Given the description of an element on the screen output the (x, y) to click on. 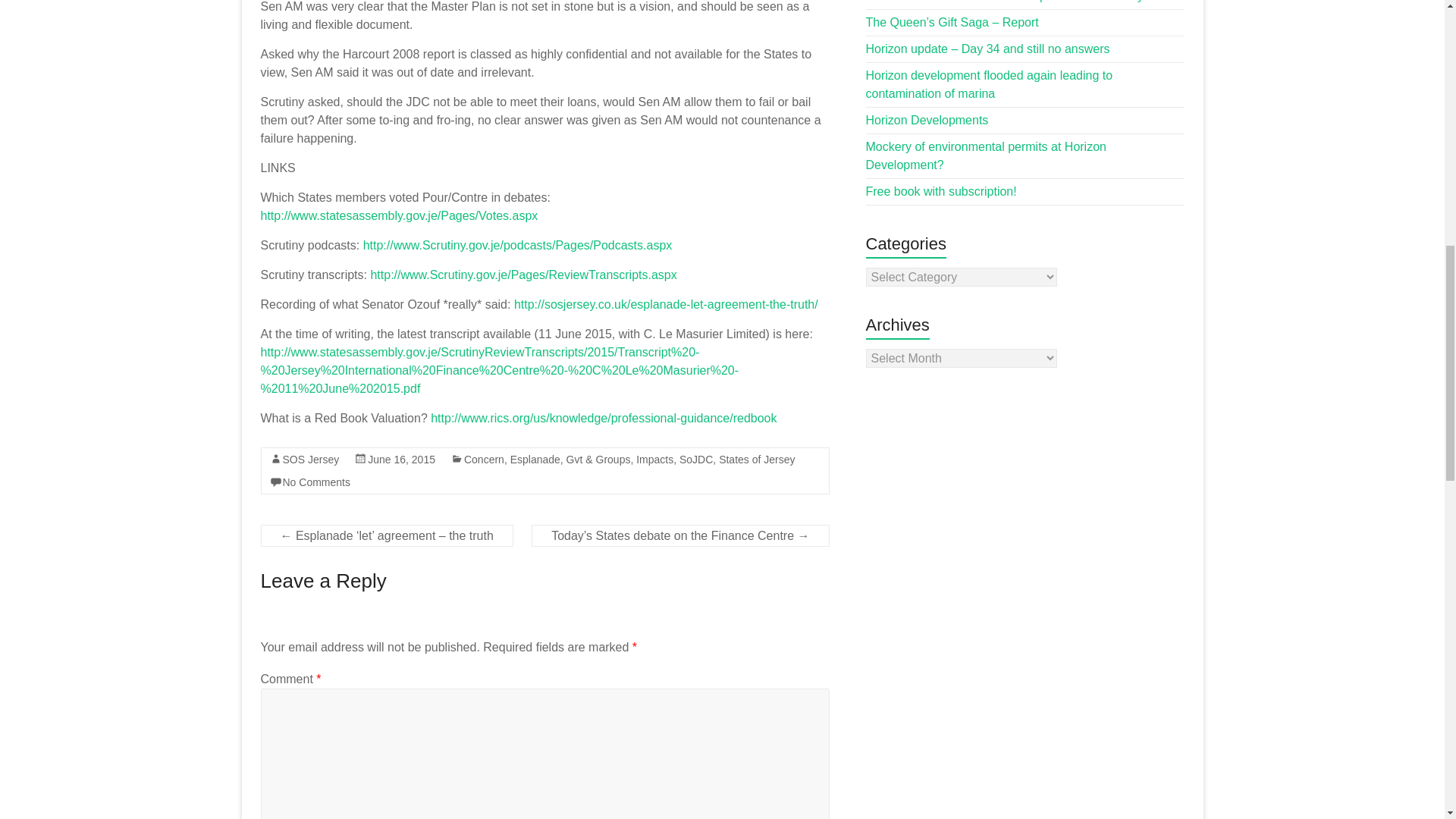
4:57 pm (401, 459)
SOS Jersey (310, 459)
Concern (483, 459)
June 16, 2015 (401, 459)
